Given the description of an element on the screen output the (x, y) to click on. 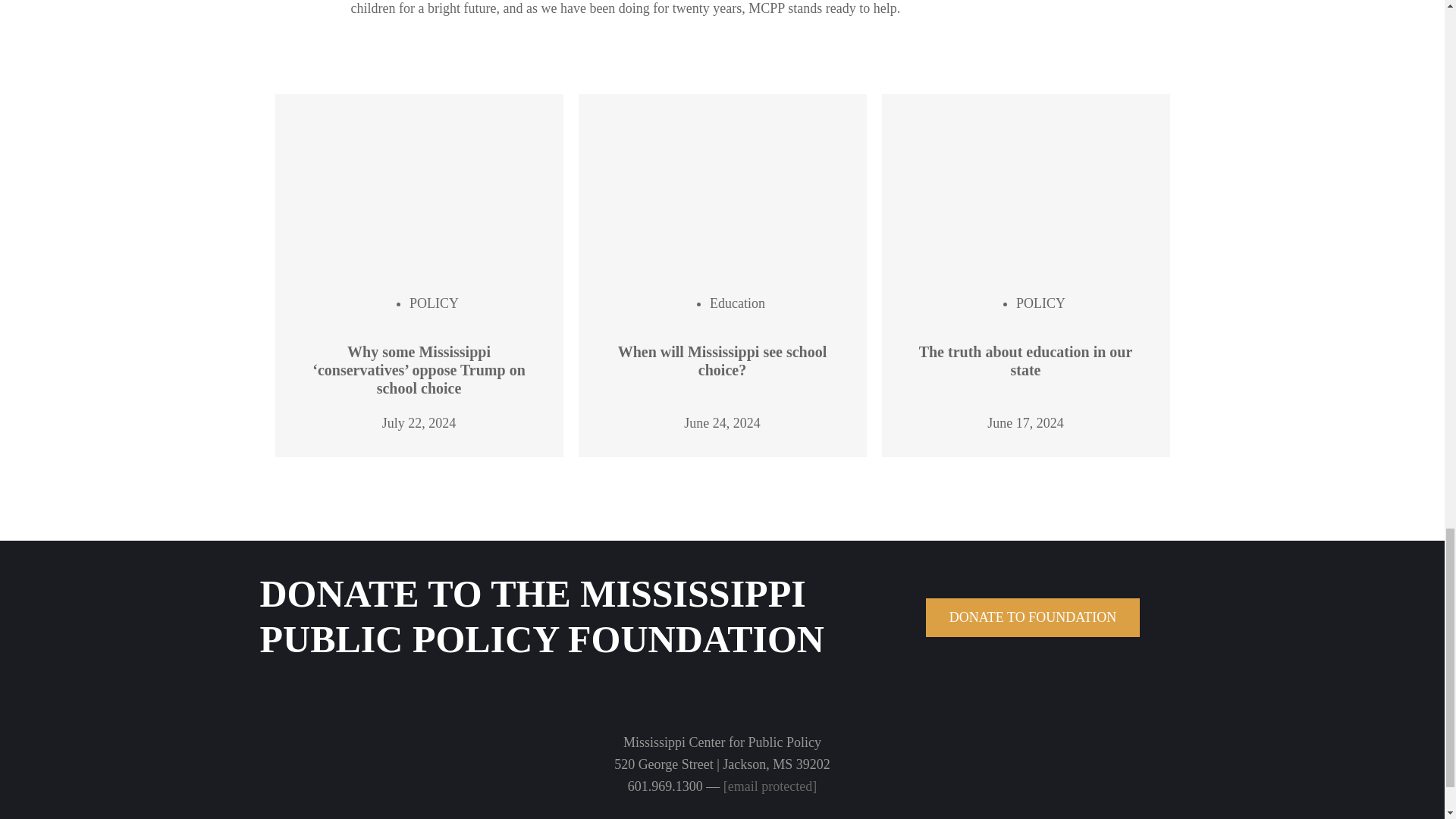
Education (737, 303)
POLICY (433, 303)
